Given the description of an element on the screen output the (x, y) to click on. 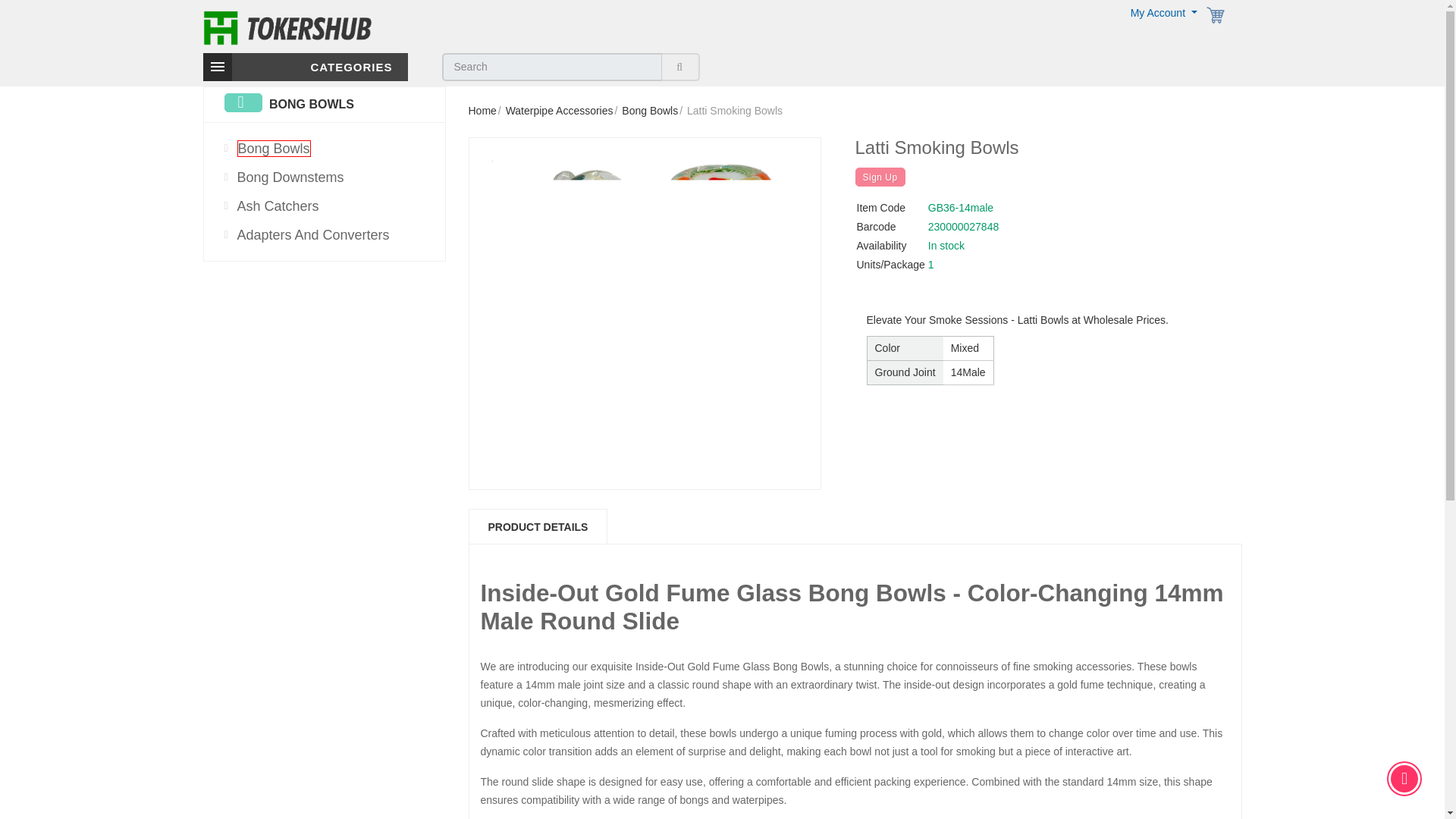
My Account (1163, 12)
